Given the description of an element on the screen output the (x, y) to click on. 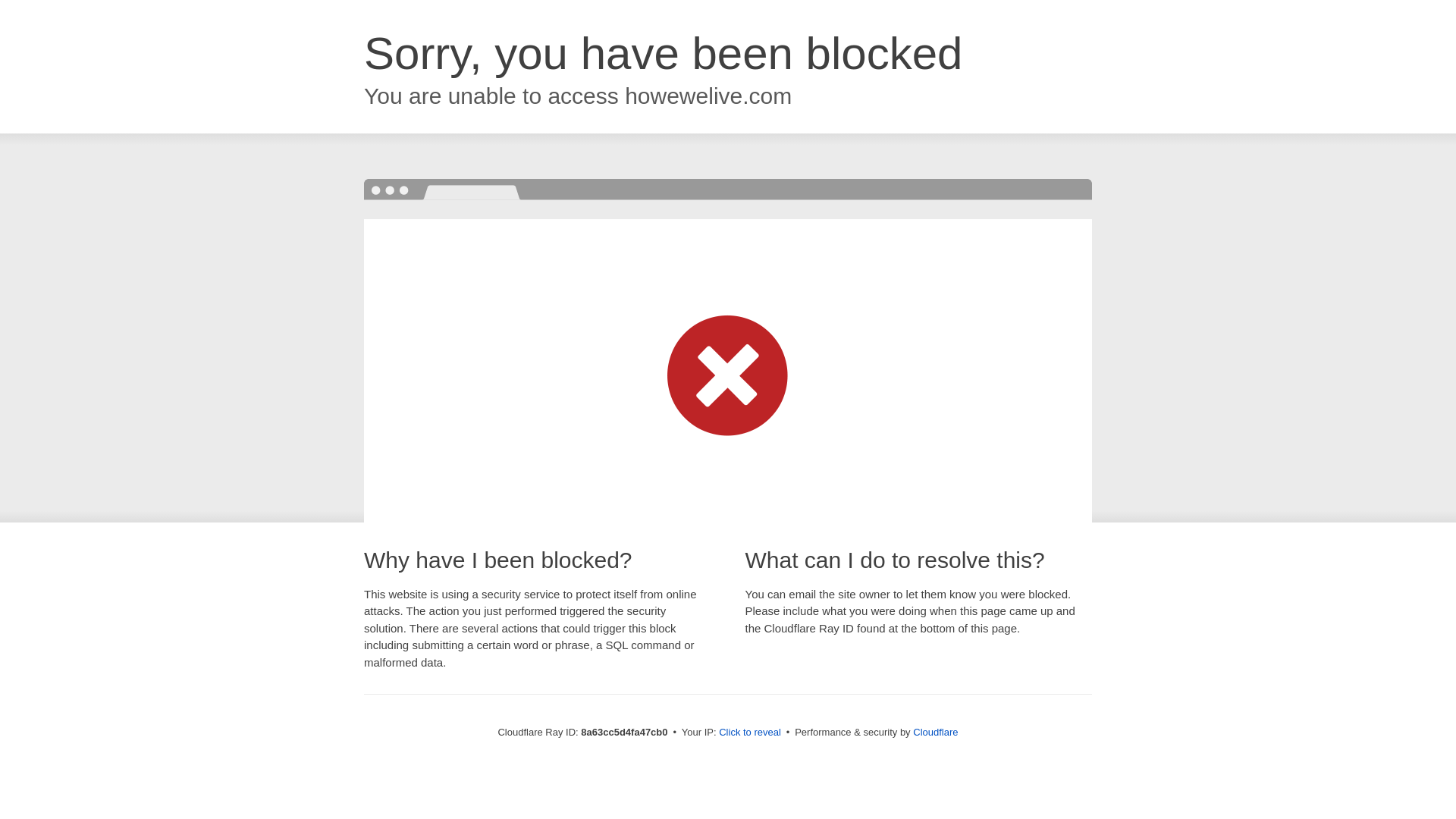
Cloudflare (935, 731)
Click to reveal (749, 732)
